Given the description of an element on the screen output the (x, y) to click on. 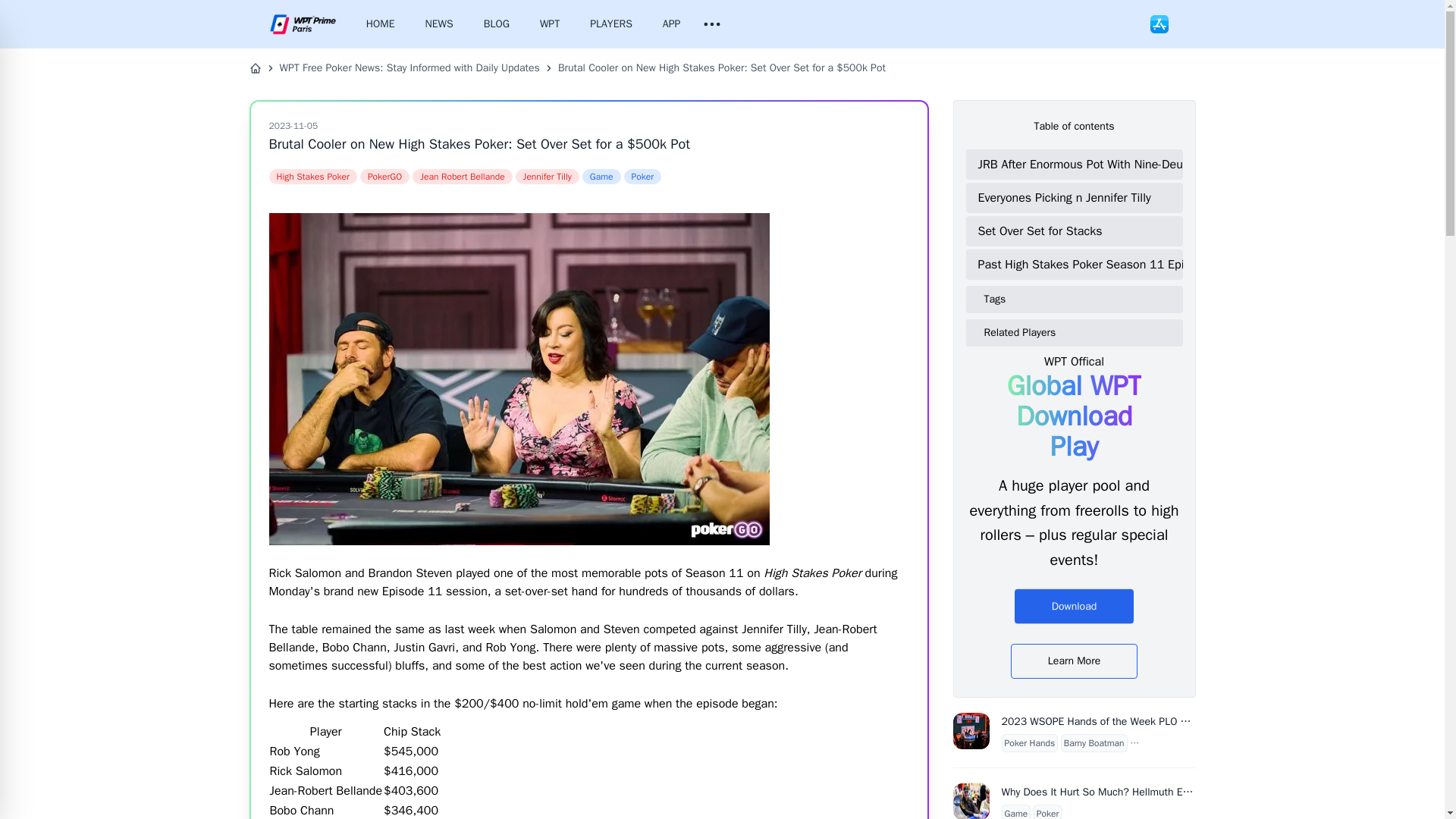
Poker (642, 176)
Related Players (1080, 332)
PokerGO (384, 176)
HOME (380, 23)
Past High Stakes Poker Season 11 Episodes (1077, 264)
Everyones Picking n Jennifer Tilly (1077, 197)
Jennifer (547, 176)
APP (671, 23)
High Stakes Poker (311, 176)
Jean Robert Bellande (462, 176)
JRB After Enormous Pot With Nine-Deuce (1077, 164)
PokerGO (384, 176)
WPT Free Poker News: Stay Informed with Daily Updates (408, 68)
Jennifer Tilly (547, 176)
